Given the description of an element on the screen output the (x, y) to click on. 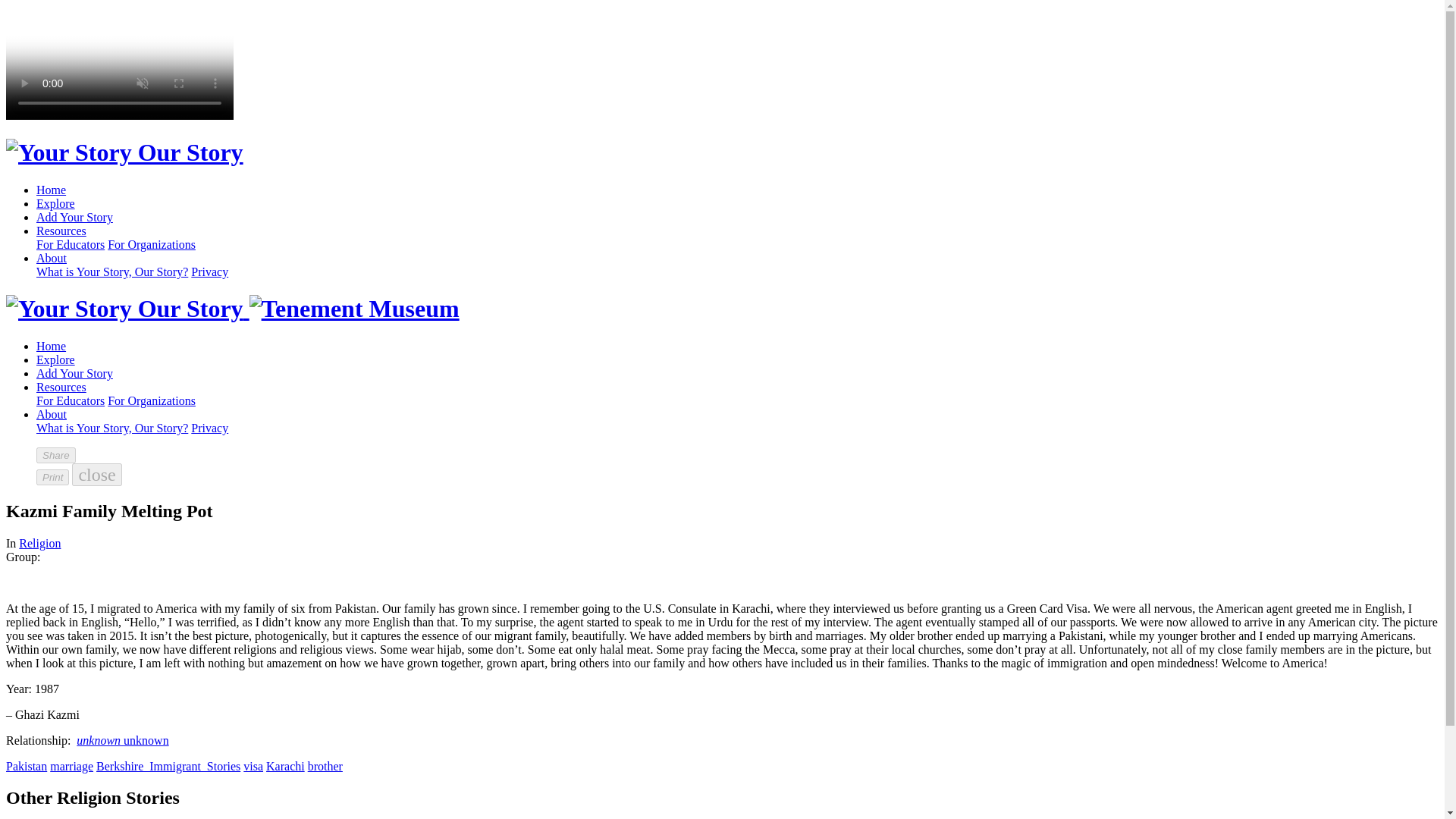
Explore (55, 203)
About (51, 413)
What is Your Story, Our Story? (111, 271)
Home (50, 189)
Explore (55, 359)
About (51, 257)
Resources (60, 386)
What is Your Story, Our Story? (111, 427)
Add Your Story (74, 216)
For Educators (70, 244)
brother (324, 766)
Home (50, 345)
For Educators (70, 400)
For Organizations (151, 244)
Share (55, 455)
